Given the description of an element on the screen output the (x, y) to click on. 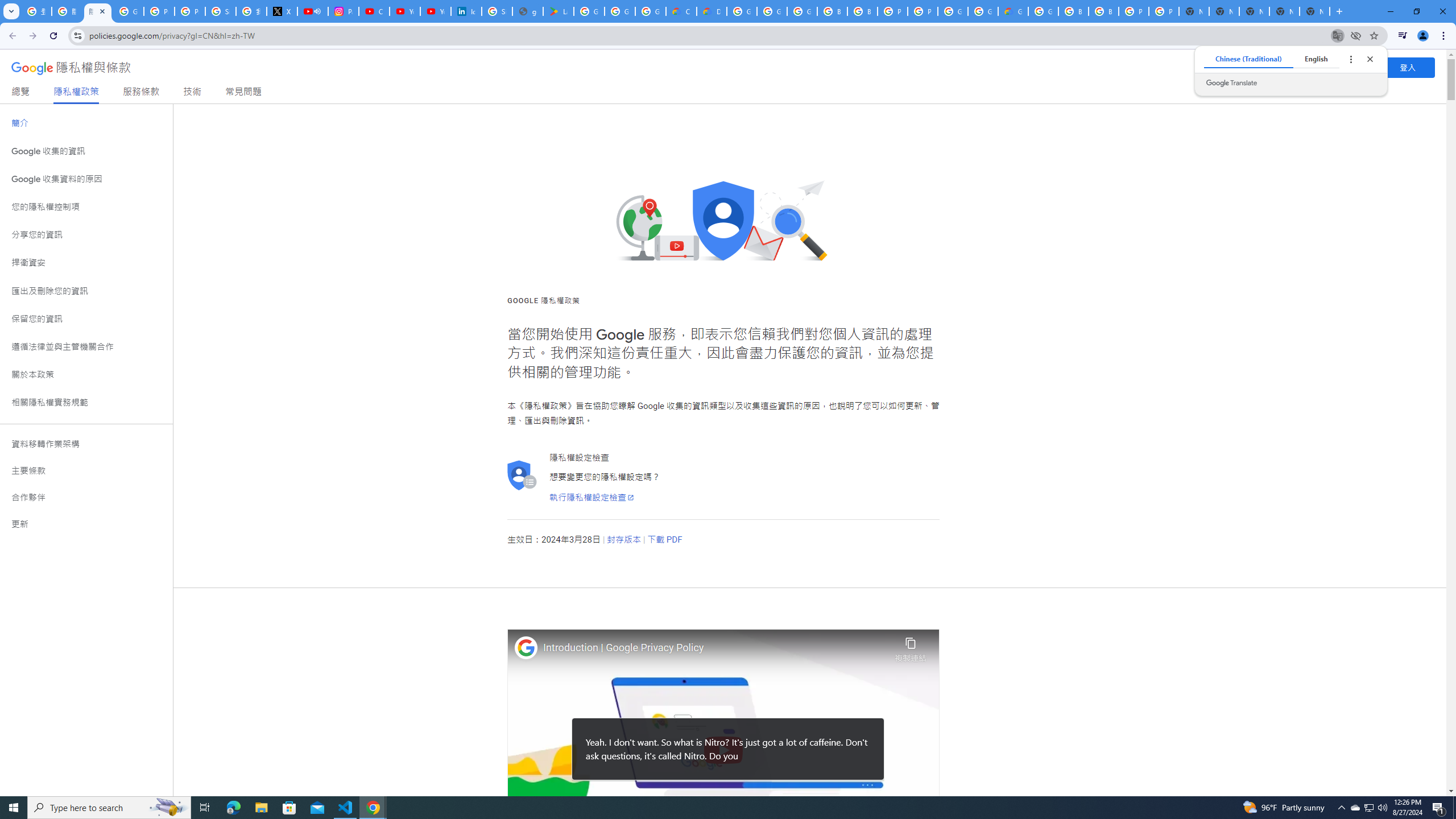
Sign in - Google Accounts (220, 11)
Translate this page (1336, 35)
English (1315, 58)
Introduction | Google Privacy Policy (716, 648)
google_privacy_policy_en.pdf (527, 11)
Google Workspace - Specific Terms (619, 11)
YouTube Culture & Trends - YouTube Top 10, 2021 (434, 11)
Mute tab (317, 10)
